Given the description of an element on the screen output the (x, y) to click on. 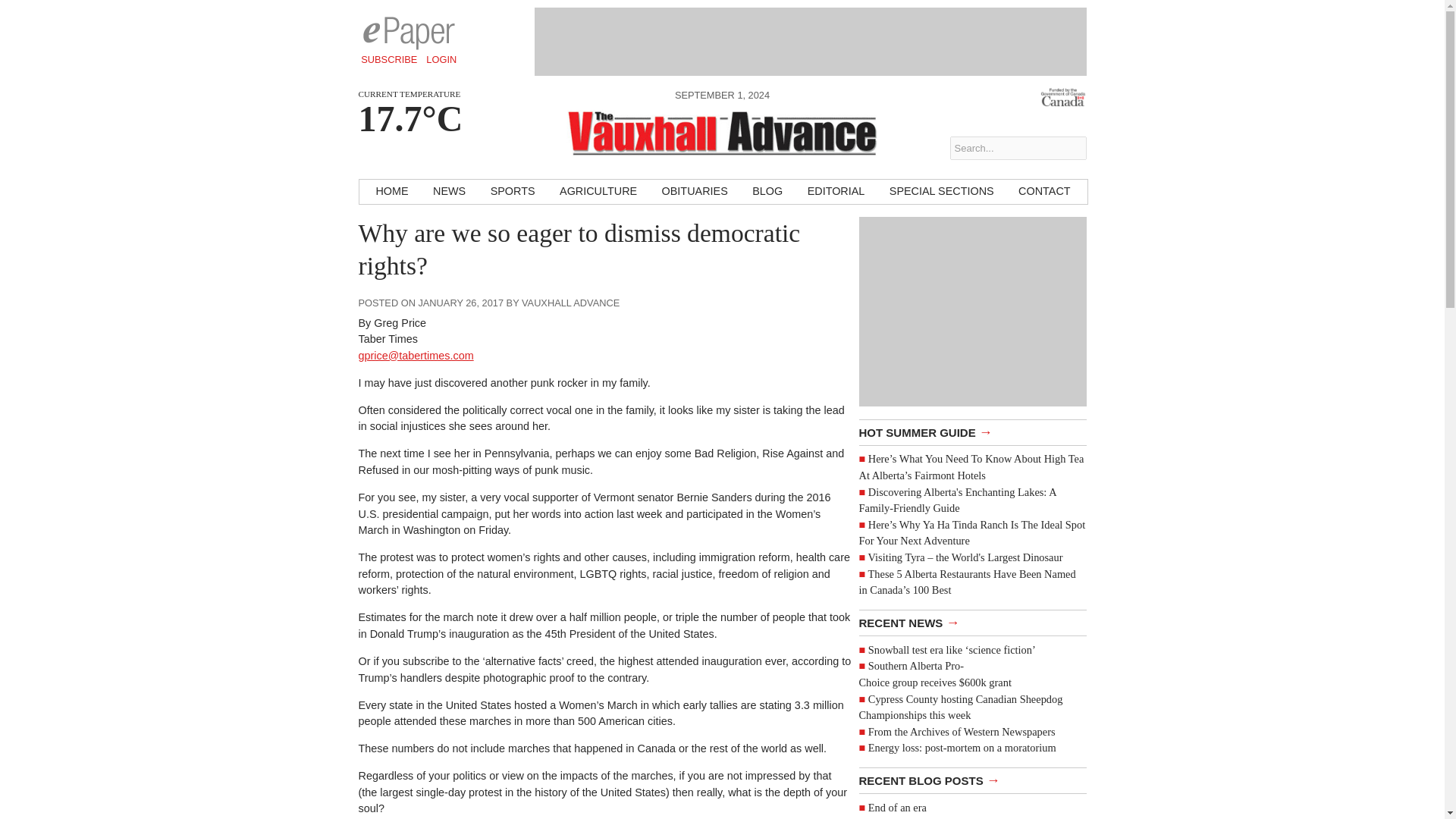
From the Archives of Western Newspapers (961, 731)
End of an era (896, 807)
AGRICULTURE (597, 191)
Energy loss: post-mortem on a moratorium (962, 747)
SPECIAL SECTIONS (941, 191)
EDITORIAL (836, 191)
OBITUARIES (694, 191)
BLOG (767, 191)
